Given the description of an element on the screen output the (x, y) to click on. 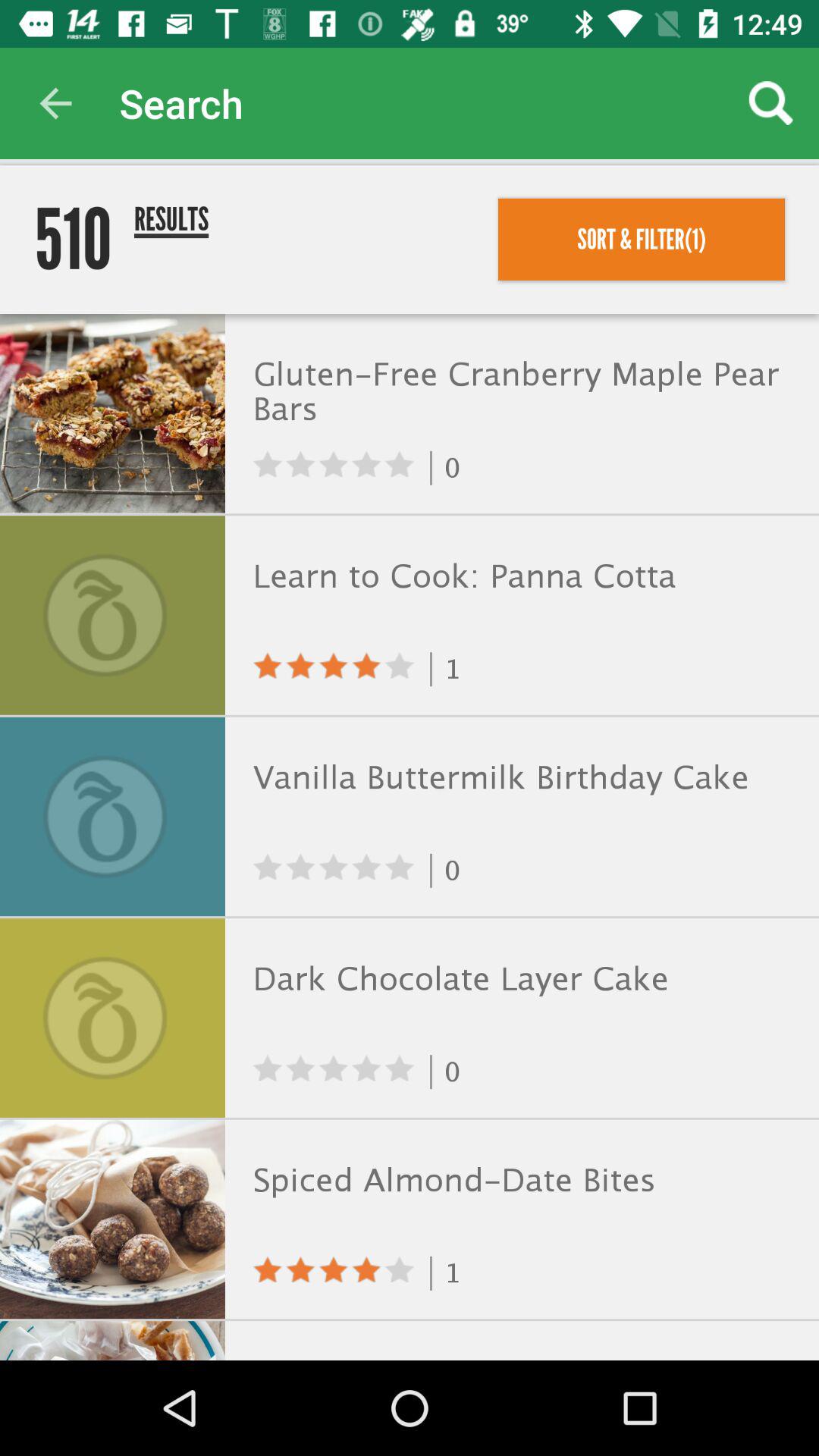
flip until the sort & filter(1) (641, 239)
